Given the description of an element on the screen output the (x, y) to click on. 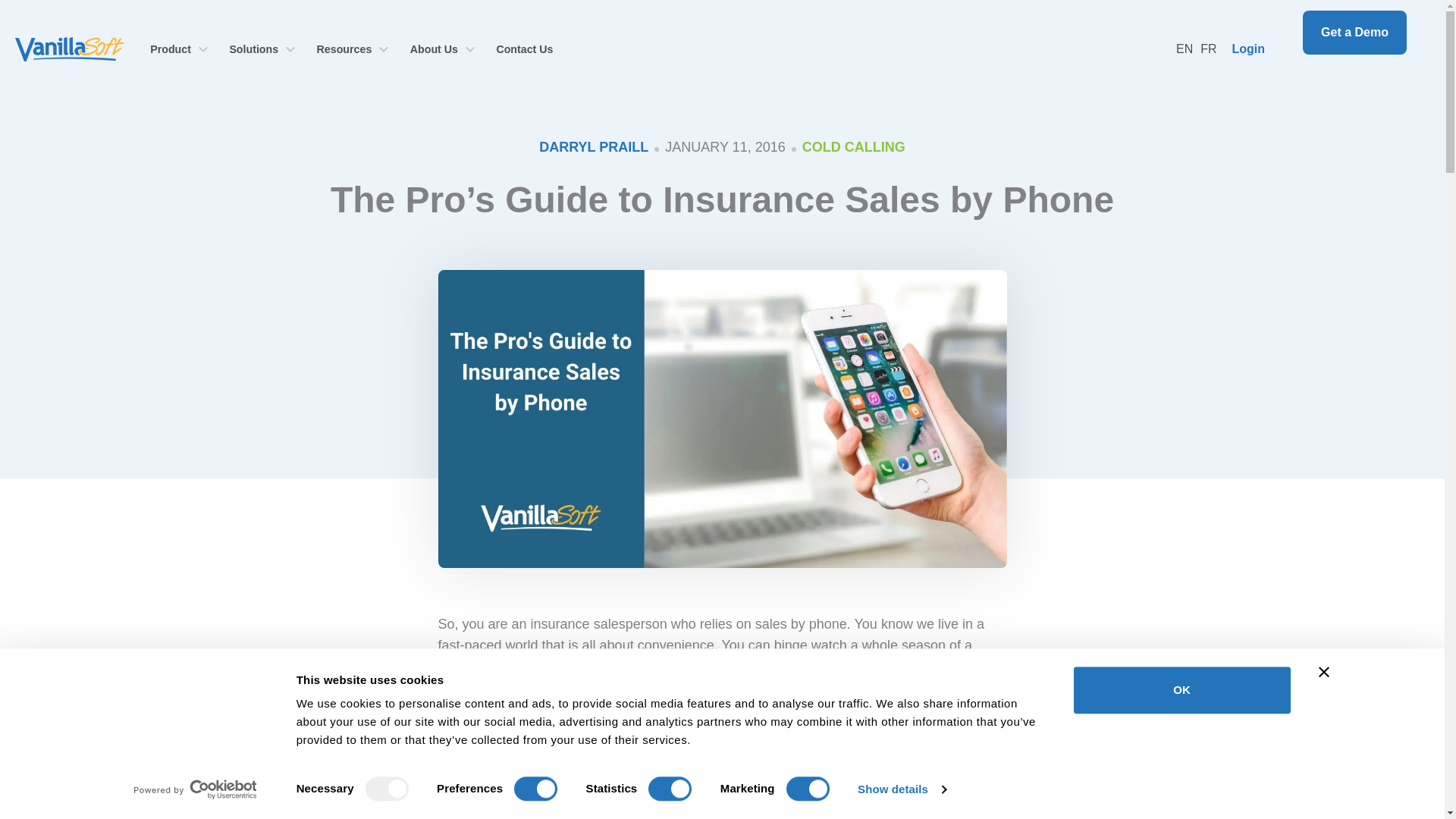
Show details (900, 789)
